Given the description of an element on the screen output the (x, y) to click on. 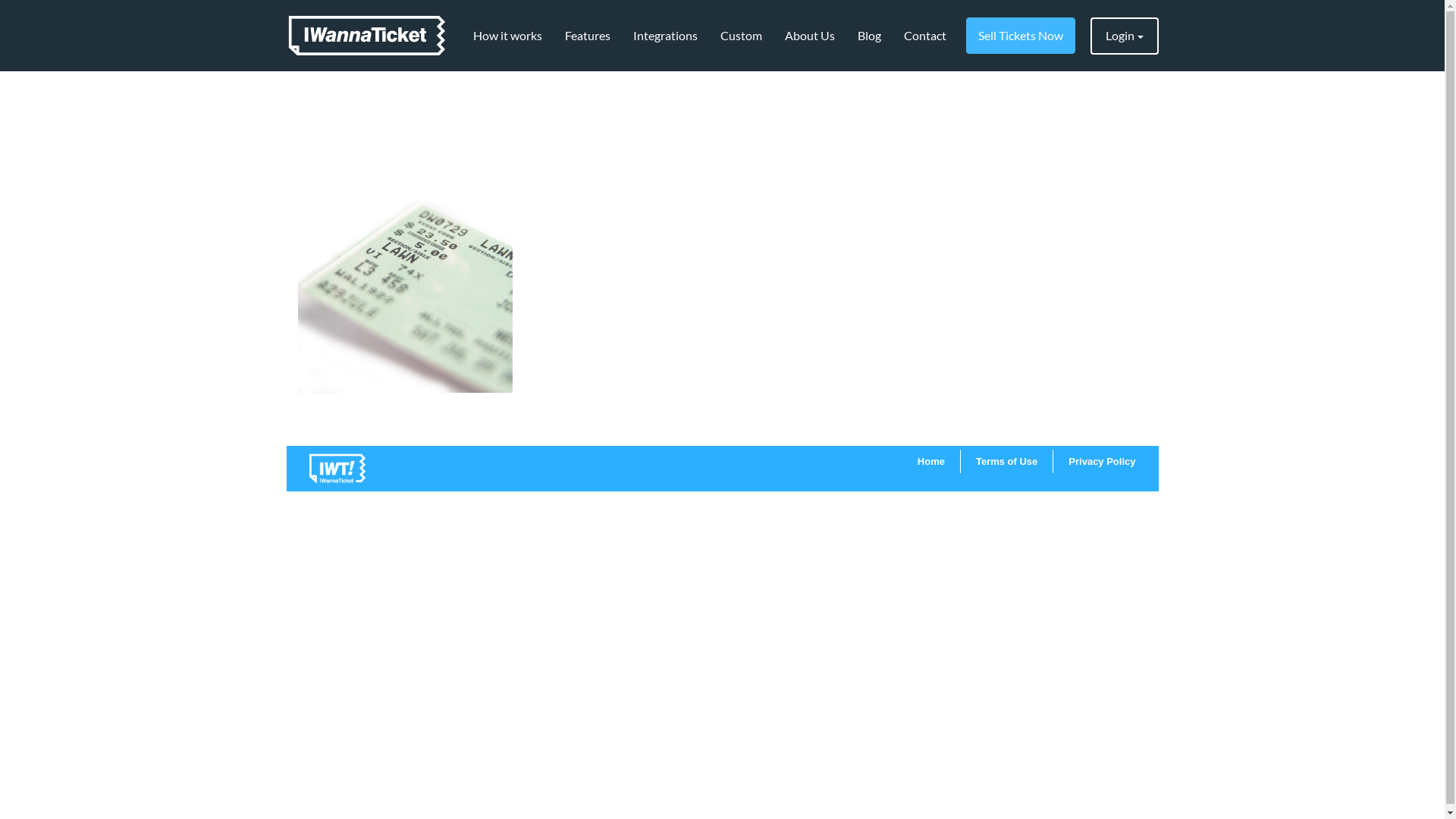
IWannaTicket Element type: text (366, 35)
Custom Element type: text (740, 35)
About Us Element type: text (809, 35)
Terms of Use Element type: text (1006, 461)
Contact Element type: text (924, 35)
How it works Element type: text (506, 35)
Blog Element type: text (869, 35)
Privacy Policy Element type: text (1101, 461)
Sell Tickets Now Element type: text (1020, 35)
Integrations Element type: text (665, 35)
Login Element type: text (1124, 35)
Features Element type: text (587, 35)
Home Element type: text (931, 461)
Sorry Element type: hover (404, 231)
